Given the description of an element on the screen output the (x, y) to click on. 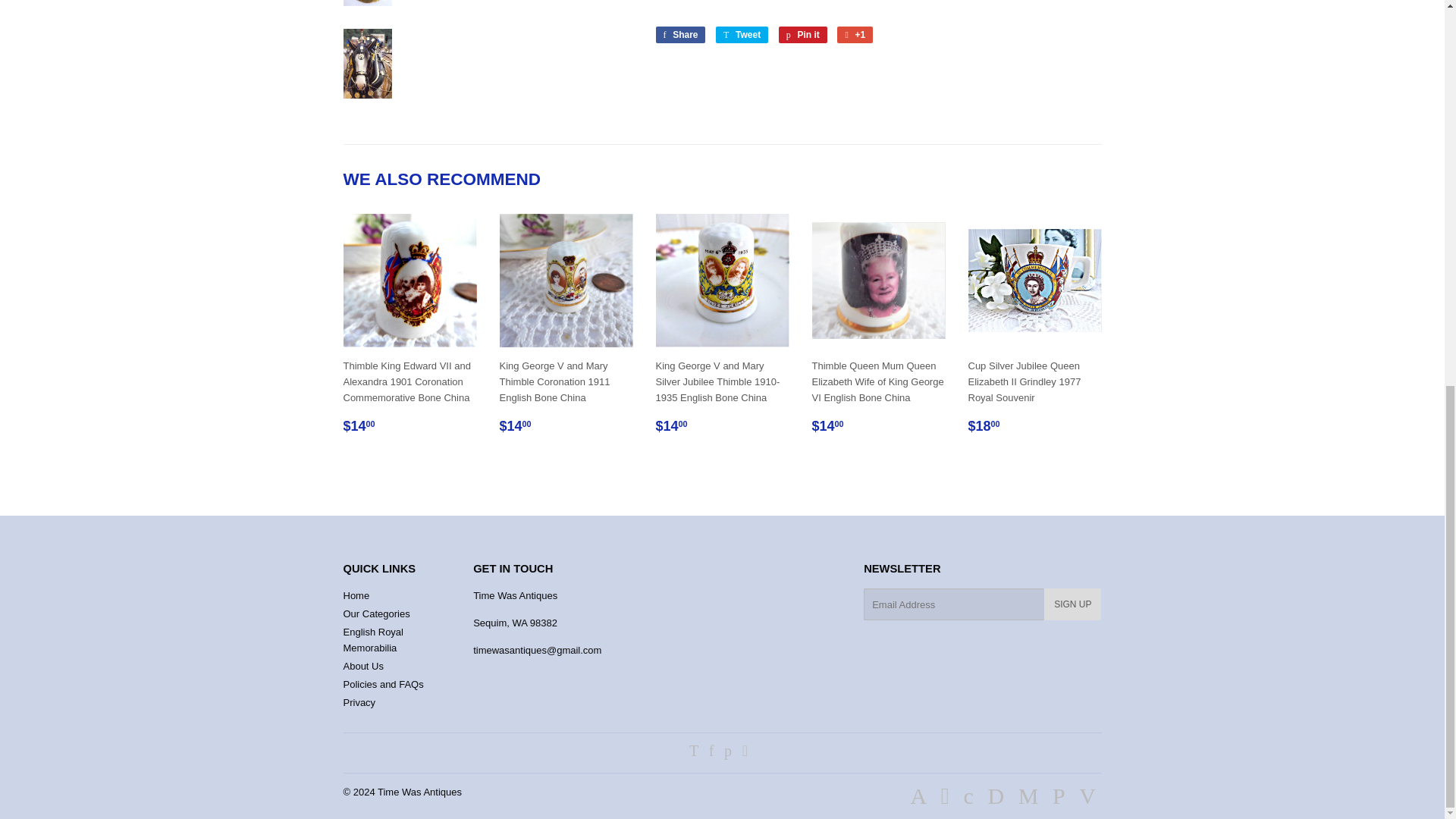
Tweet on Twitter (742, 34)
Pin on Pinterest (802, 34)
Share on Facebook (679, 34)
